Given the description of an element on the screen output the (x, y) to click on. 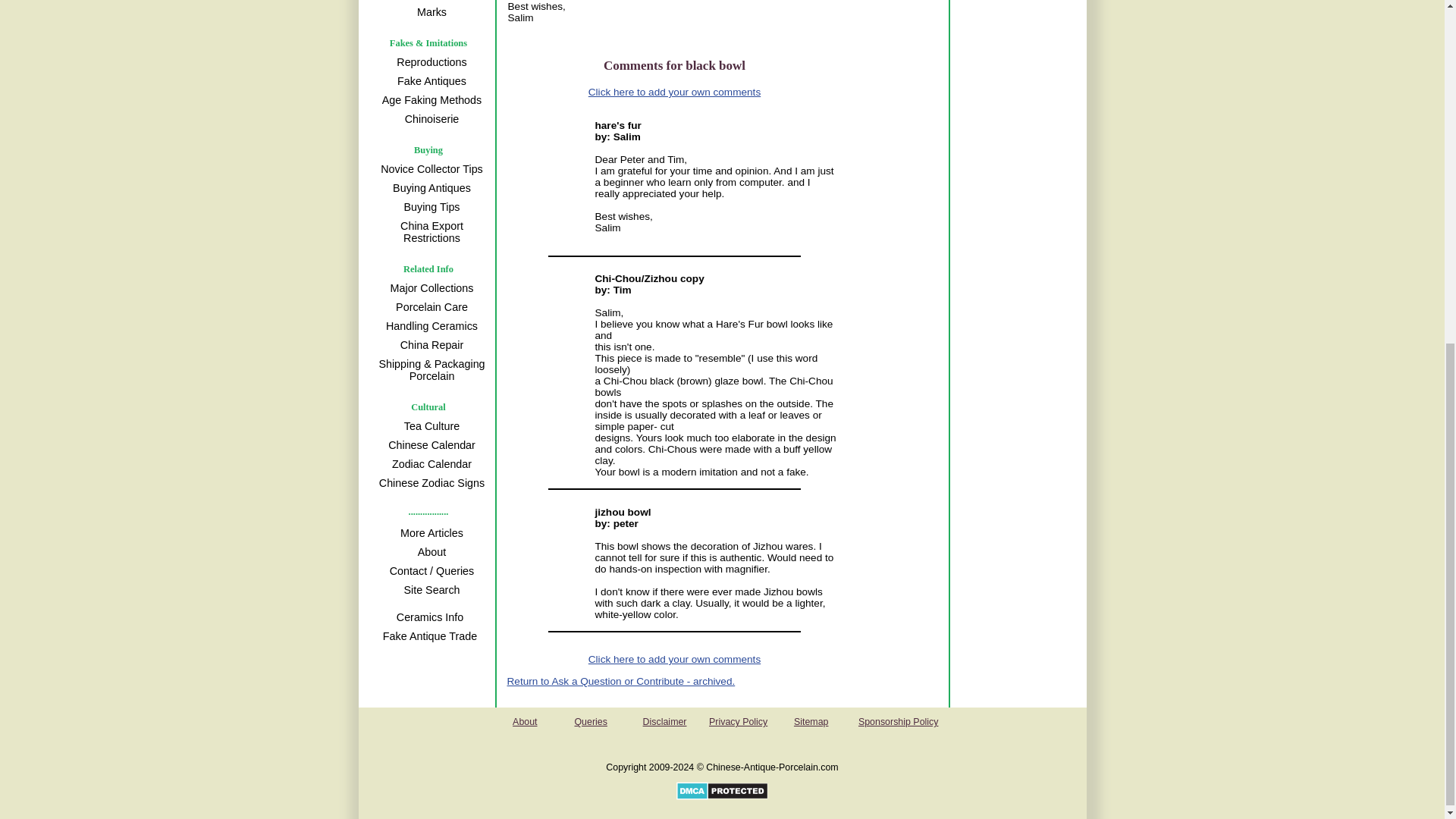
Fake Antiques (429, 80)
China Repair (429, 344)
Chinese Calendar (429, 444)
Buying Antiques (429, 187)
Marks (429, 12)
Chinoiserie (429, 118)
Buying Tips (429, 207)
Reproductions (429, 62)
Zodiac Calendar (429, 463)
Porcelain Care (429, 306)
